Given the description of an element on the screen output the (x, y) to click on. 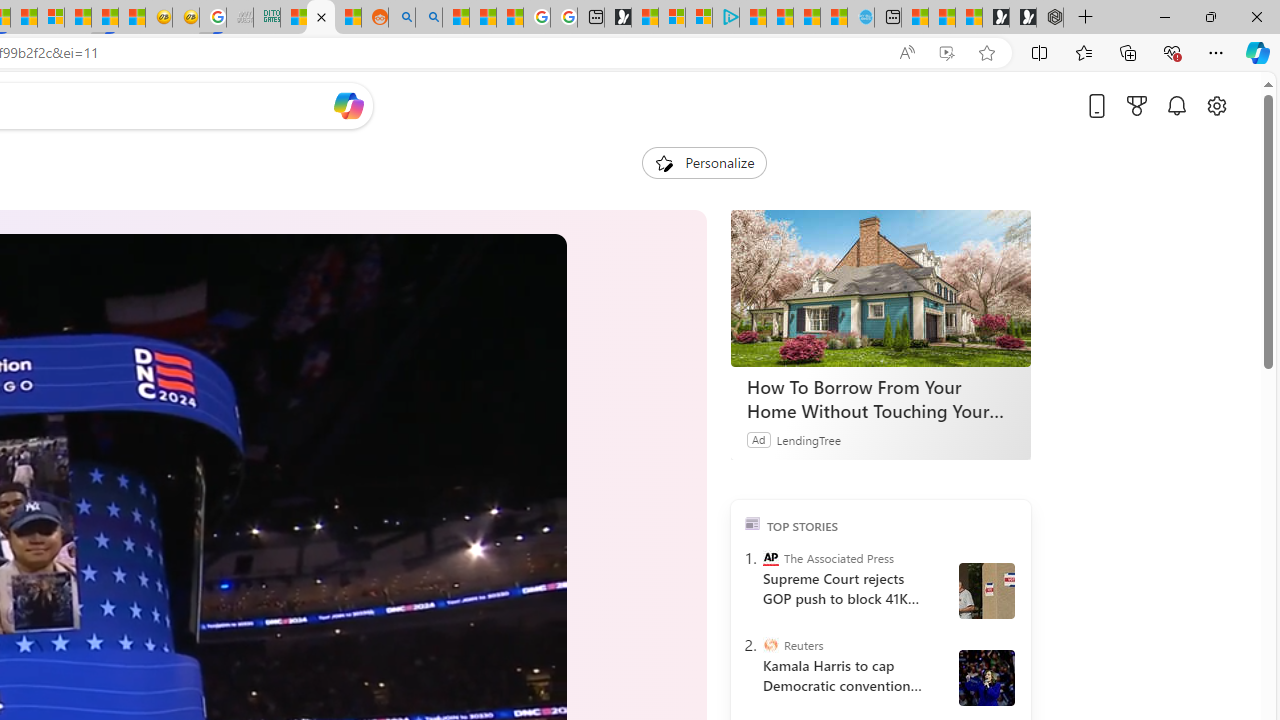
 Harris and Walz campaign in Wisconsin (986, 678)
